Given the description of an element on the screen output the (x, y) to click on. 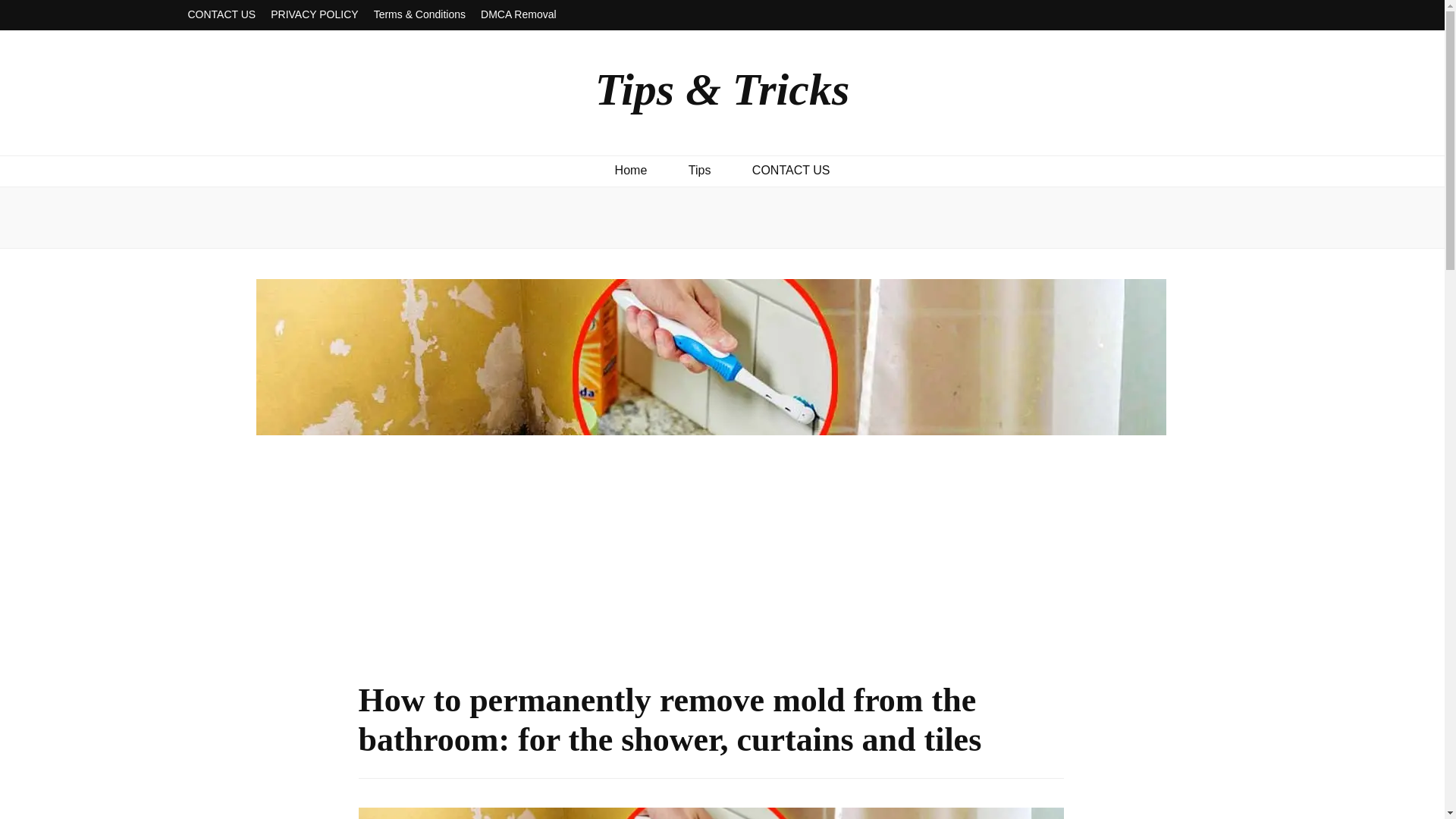
CONTACT US (790, 170)
PRIVACY POLICY (314, 15)
Home (630, 170)
DMCA Removal (518, 15)
CONTACT US (221, 15)
Tips (699, 170)
